Given the description of an element on the screen output the (x, y) to click on. 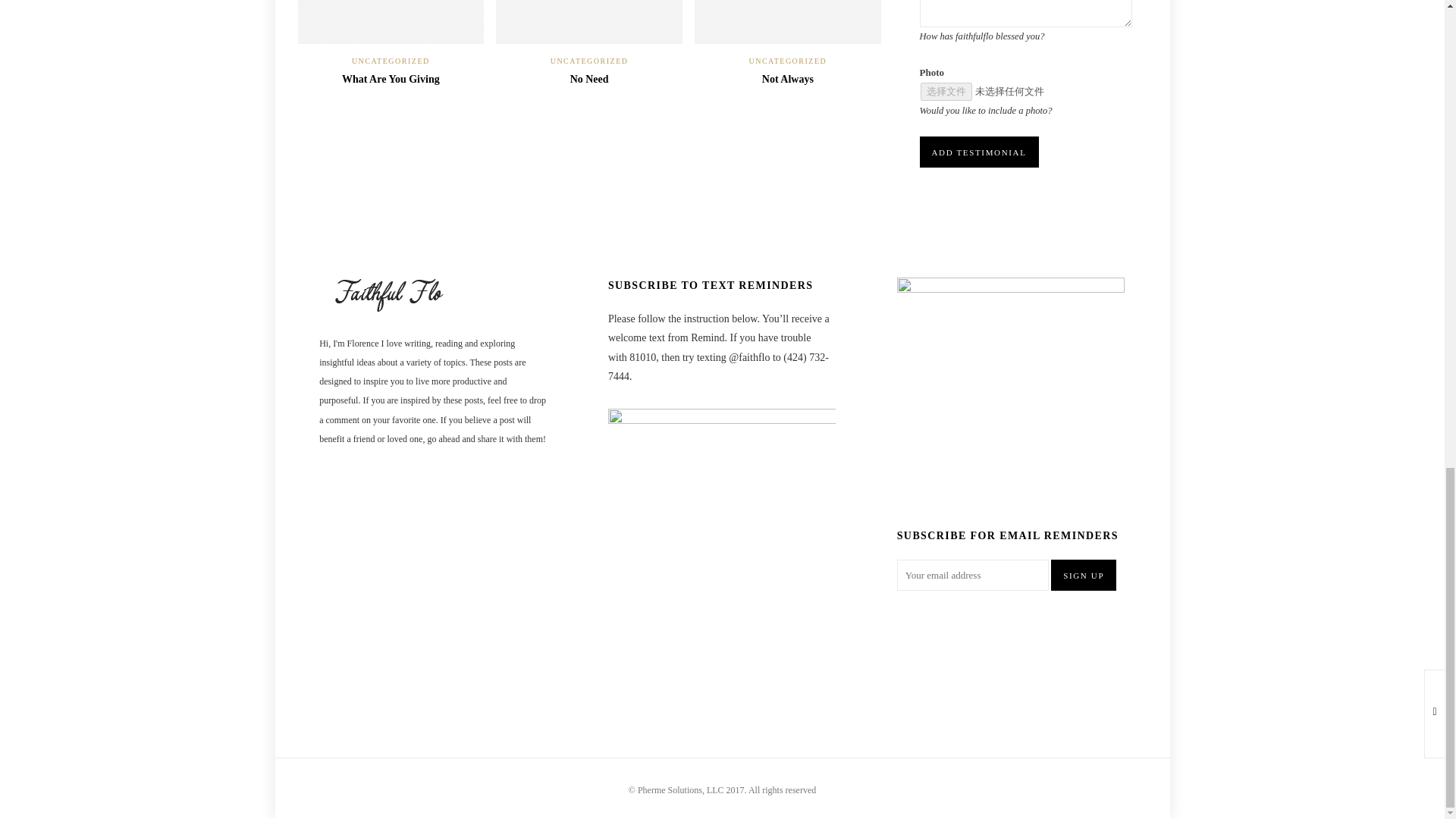
Add Testimonial (978, 151)
No Need (589, 79)
Not Always (787, 79)
What Are You Giving (390, 79)
UNCATEGORIZED (787, 60)
Sign up (1083, 574)
UNCATEGORIZED (589, 60)
UNCATEGORIZED (390, 60)
